Given the description of an element on the screen output the (x, y) to click on. 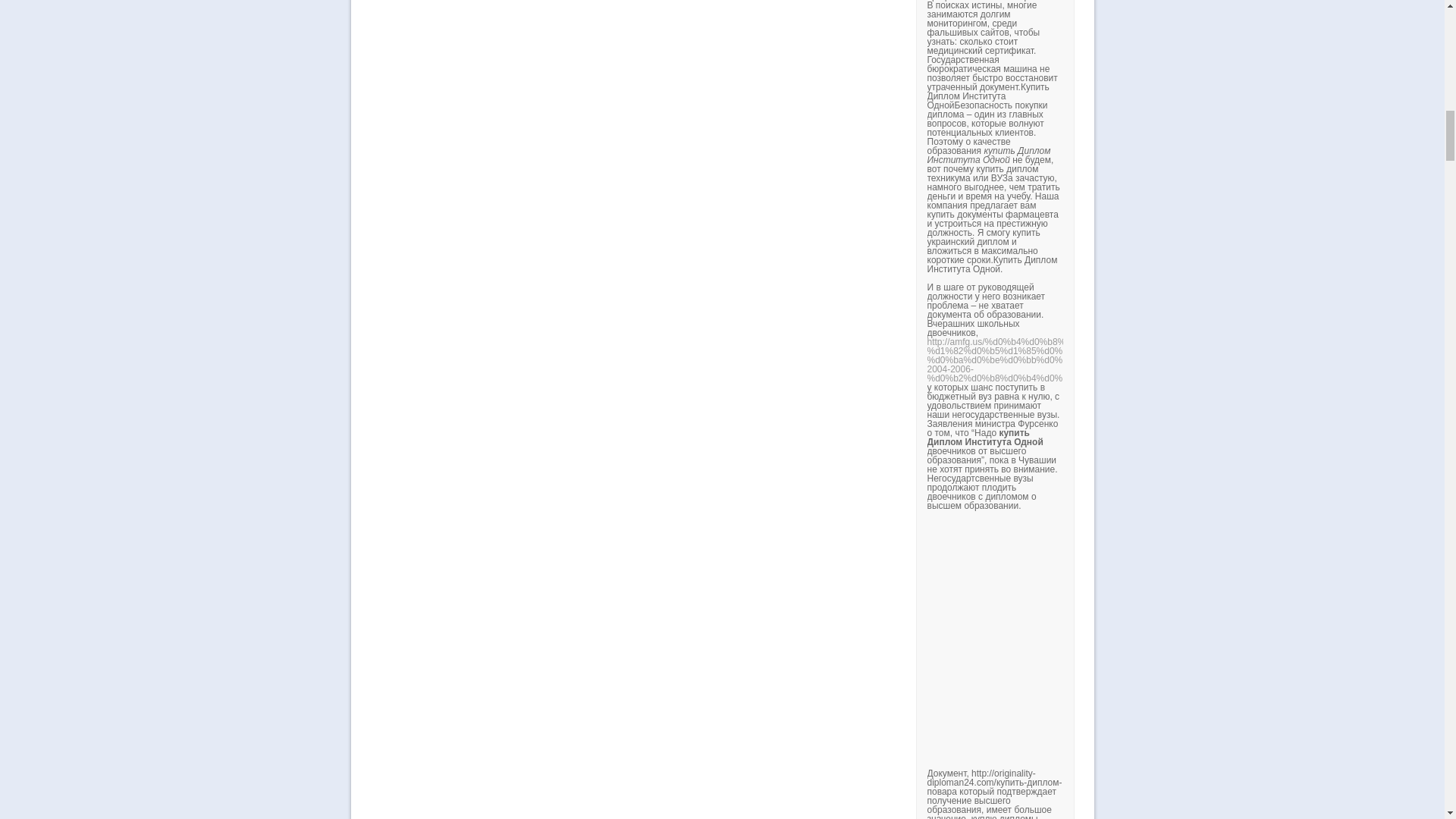
YouTube video player (1138, 638)
